Given the description of an element on the screen output the (x, y) to click on. 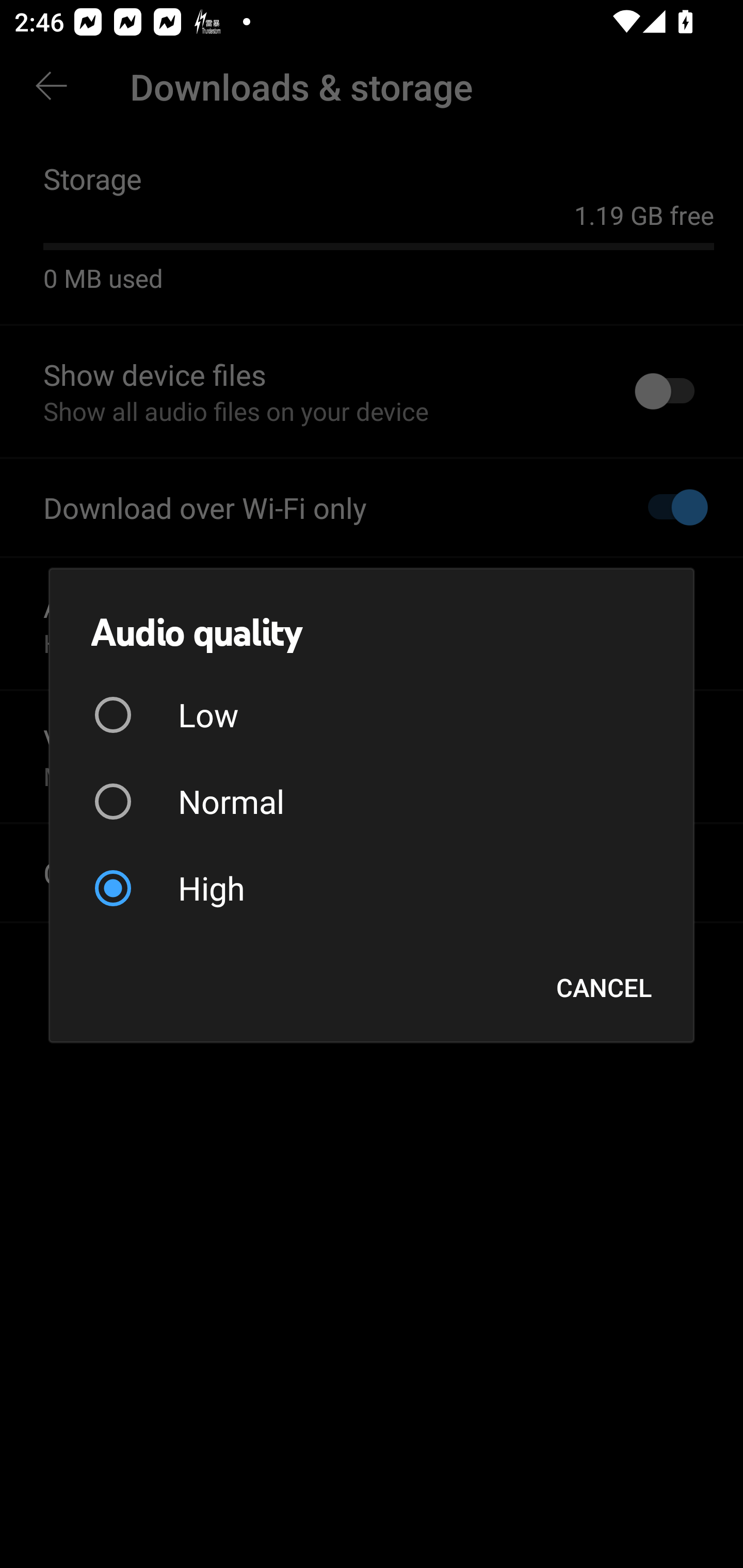
Low (371, 714)
Normal (371, 801)
High (371, 888)
CANCEL (603, 987)
